Given the description of an element on the screen output the (x, y) to click on. 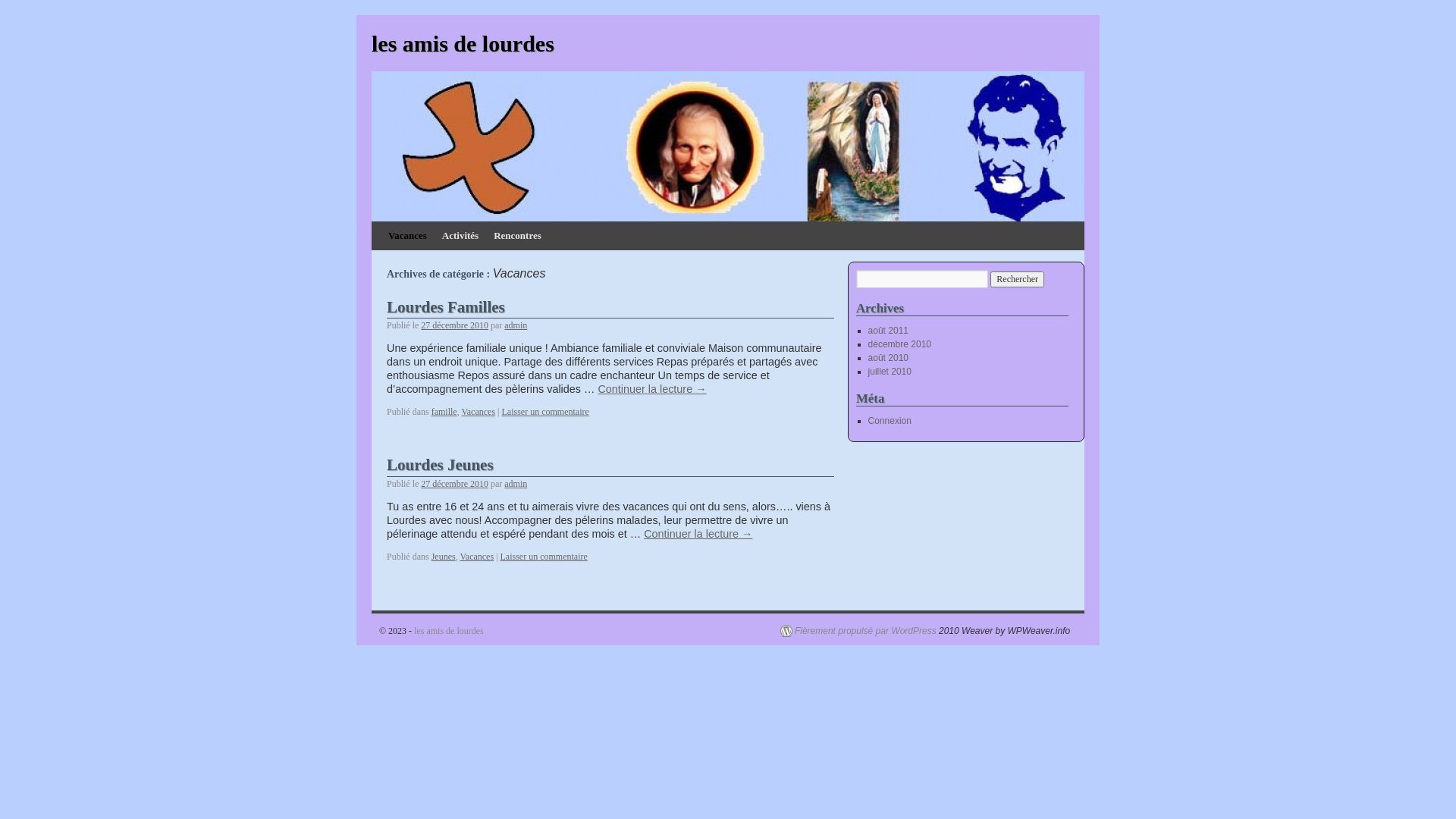
Laisser un commentaire Element type: text (543, 556)
Vacances Element type: text (478, 411)
famille Element type: text (444, 411)
Connexion Element type: text (889, 420)
Rechercher Element type: text (1017, 279)
Rencontres Element type: text (517, 235)
Lourdes Familles Element type: text (445, 307)
Lourdes Jeunes Element type: text (439, 464)
les amis de lourdes Element type: text (462, 43)
admin Element type: text (515, 483)
admin Element type: text (515, 325)
Vacances Element type: text (407, 235)
Jeunes Element type: text (443, 556)
juillet 2010 Element type: text (889, 371)
les amis de lourdes Element type: text (448, 630)
Laisser un commentaire Element type: text (545, 411)
Vacances Element type: text (476, 556)
